Given the description of an element on the screen output the (x, y) to click on. 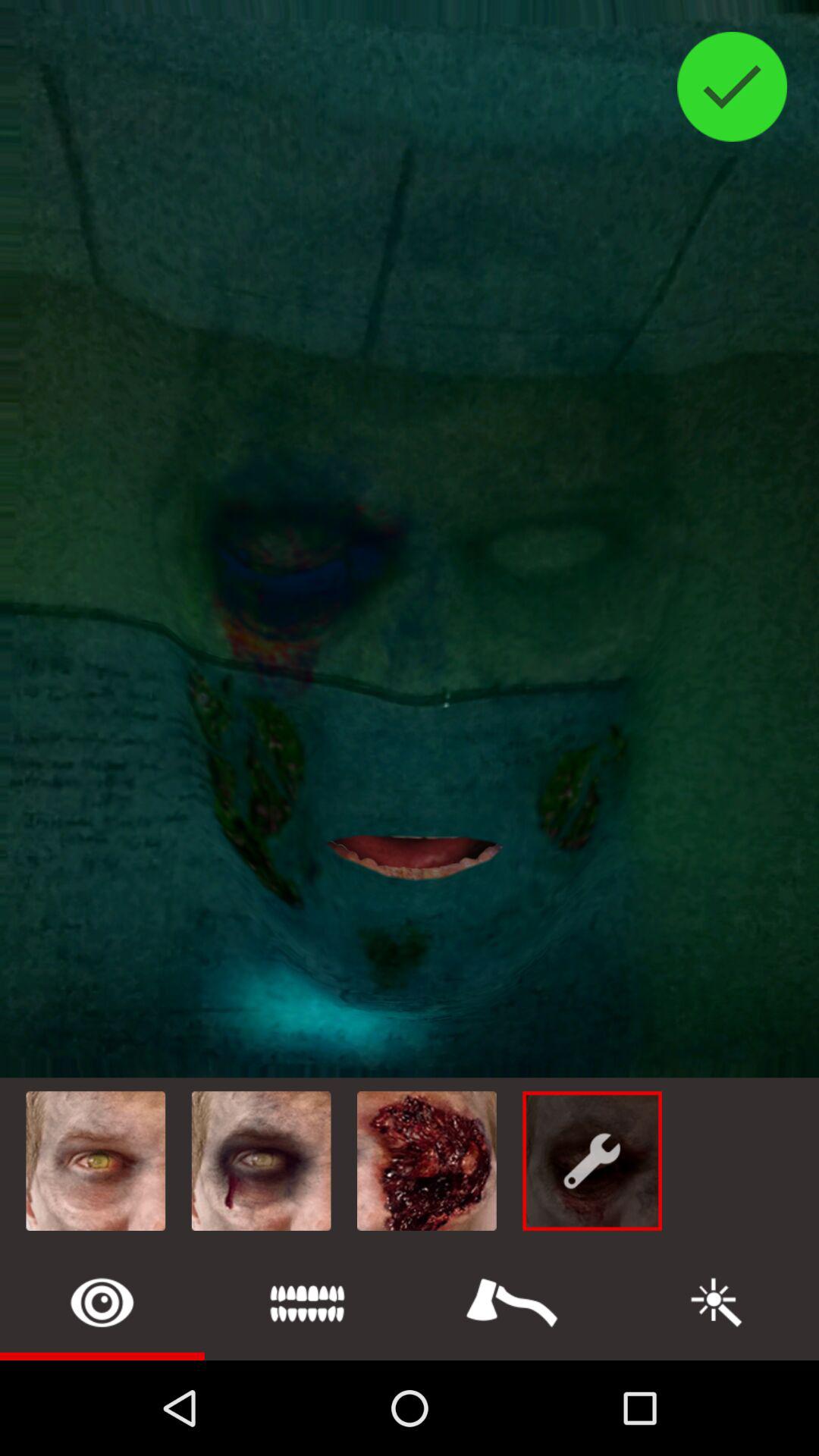
effects option (511, 1302)
